Given the description of an element on the screen output the (x, y) to click on. 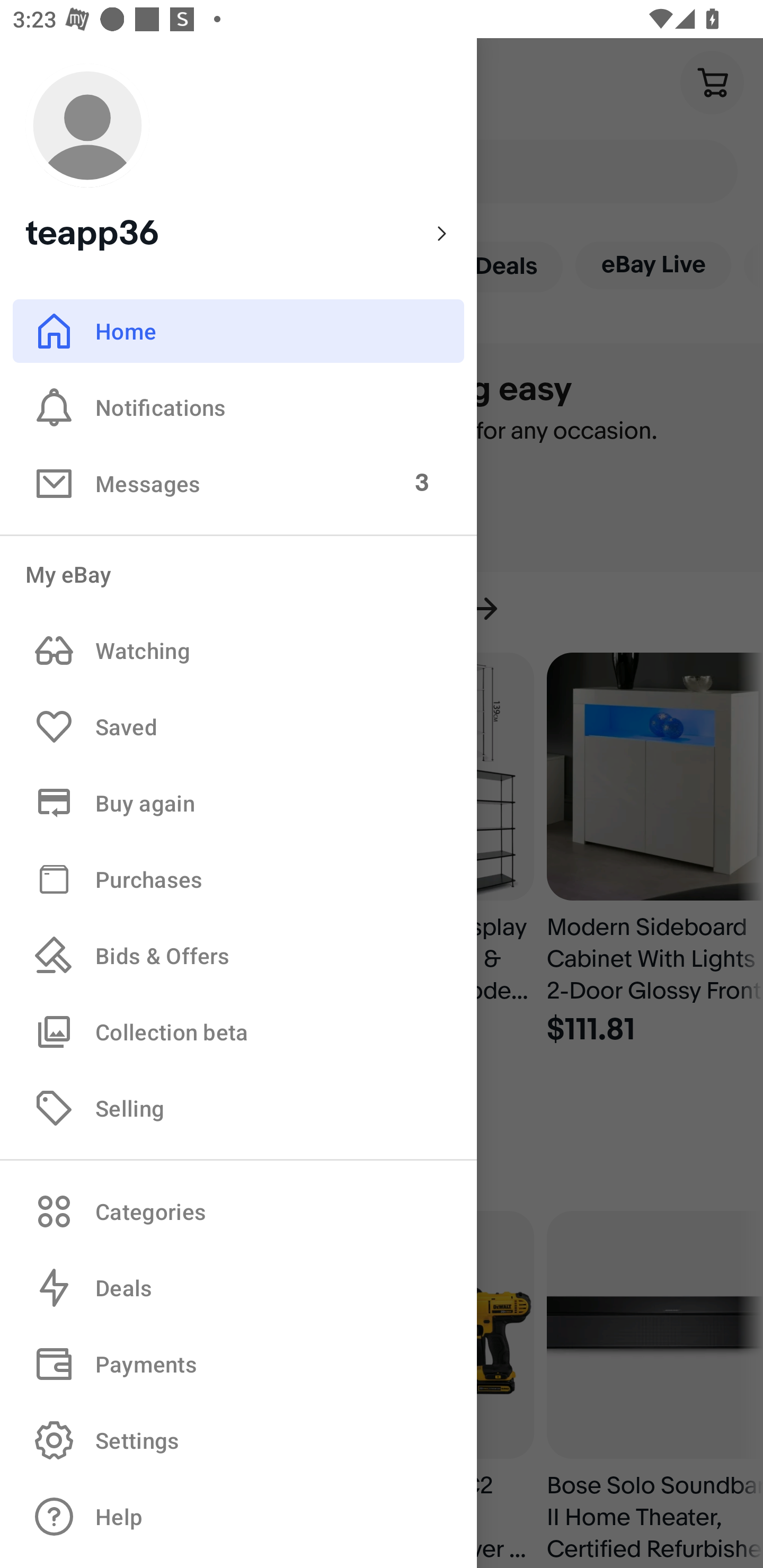
teapp36 (238, 158)
Home (238, 330)
Notifications (238, 406)
Messages 3 (238, 483)
Watching (238, 650)
Saved (238, 726)
Buy again (238, 802)
Purchases (238, 878)
Bids & Offers (238, 955)
Collection beta (238, 1031)
Selling (238, 1107)
Categories (238, 1210)
Deals (238, 1287)
Payments (238, 1363)
Settings (238, 1439)
Help (238, 1516)
